Given the description of an element on the screen output the (x, y) to click on. 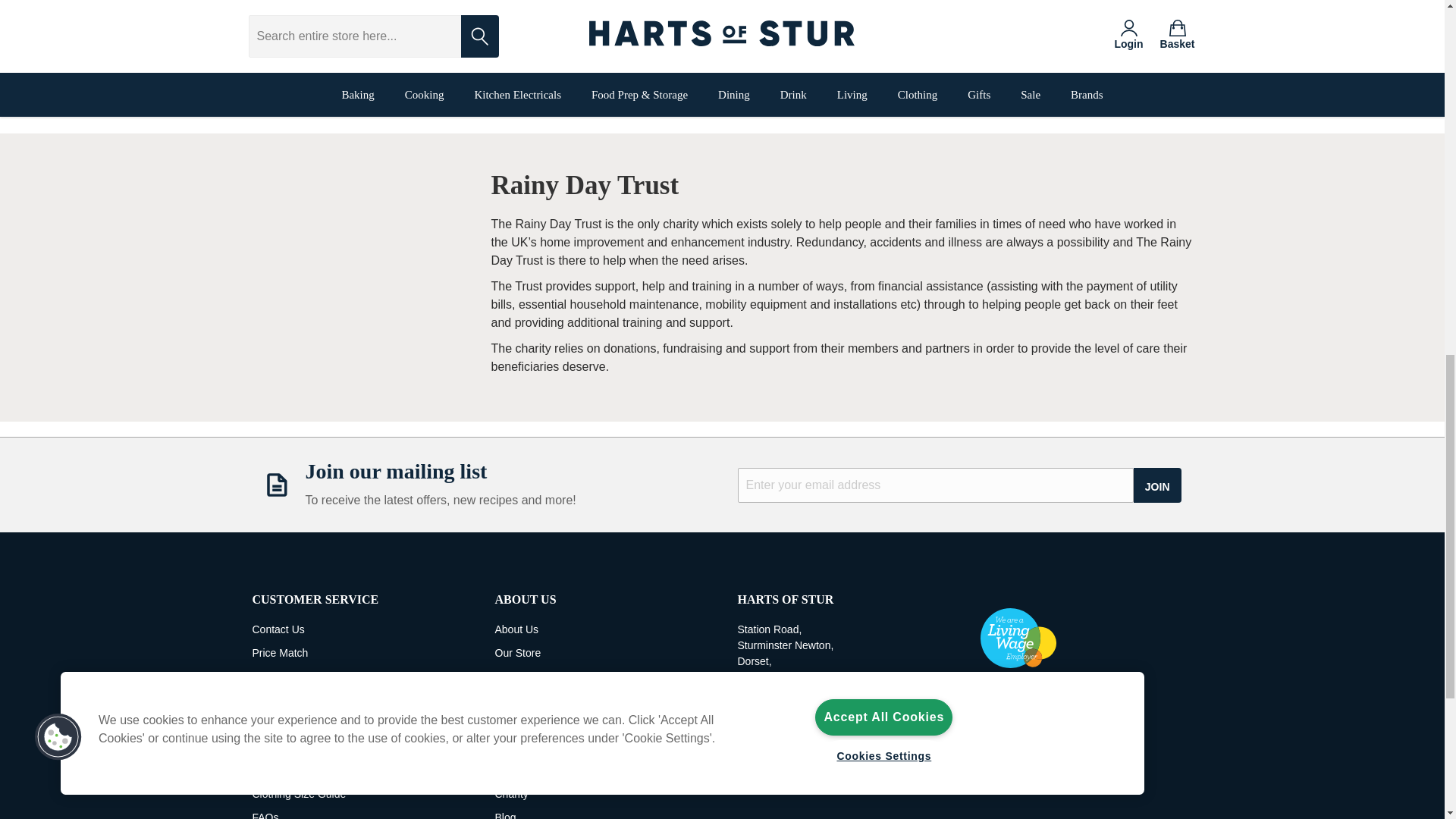
Prostate Cancer UK (358, 16)
Facebook (990, 699)
Twitter (1076, 699)
Instagram (1019, 699)
Join (1157, 484)
Youtube (1105, 699)
Pinterest (1047, 699)
